Given the description of an element on the screen output the (x, y) to click on. 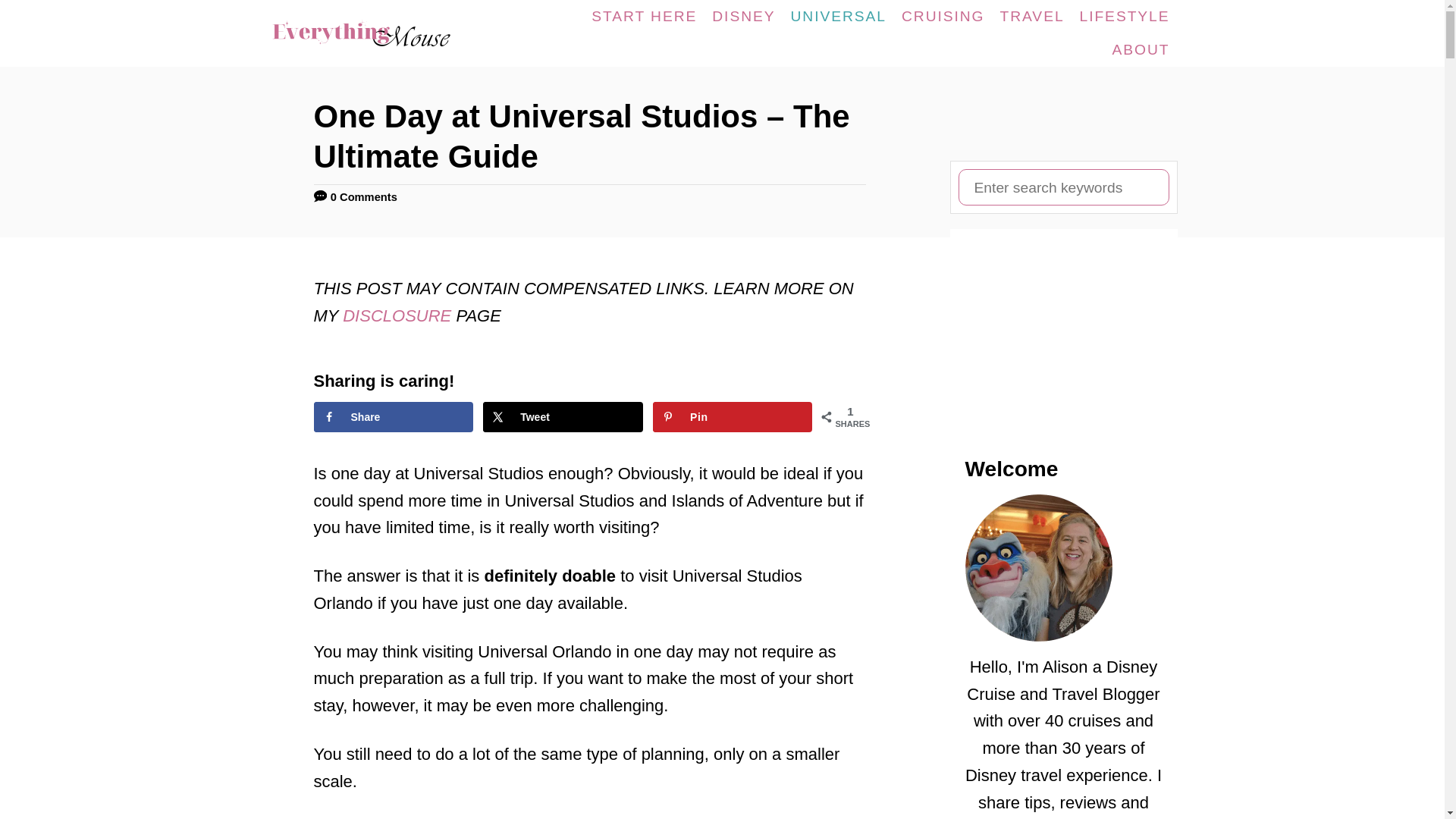
TRAVEL (1031, 16)
START HERE (643, 16)
CRUISING (942, 16)
DISNEY (743, 16)
ABOUT (1141, 49)
Tweet (563, 417)
Share on Facebook (394, 417)
LIFESTYLE (1124, 16)
Search for: (1063, 186)
Share on X (563, 417)
Save to Pinterest (732, 417)
Share (394, 417)
EverythingMouse Guide To Disney (376, 32)
Pin (732, 417)
DISCLOSURE (398, 315)
